Given the description of an element on the screen output the (x, y) to click on. 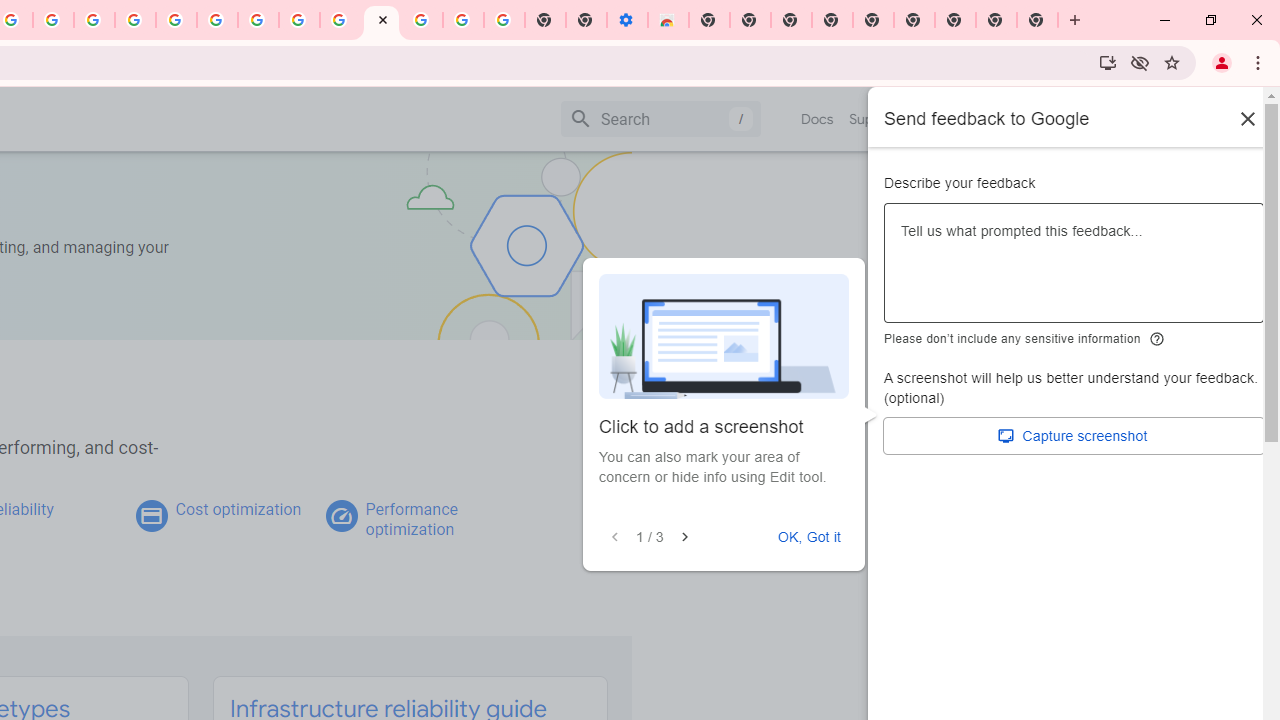
Next (683, 537)
Performance optimization (411, 519)
Previous (615, 537)
Browse the Google Chrome Community - Google Chrome Community (340, 20)
Google Account Help (462, 20)
Turn cookies on or off - Computer - Google Account Help (503, 20)
Chrome Web Store - Accessibility extensions (667, 20)
Next (684, 537)
